Given the description of an element on the screen output the (x, y) to click on. 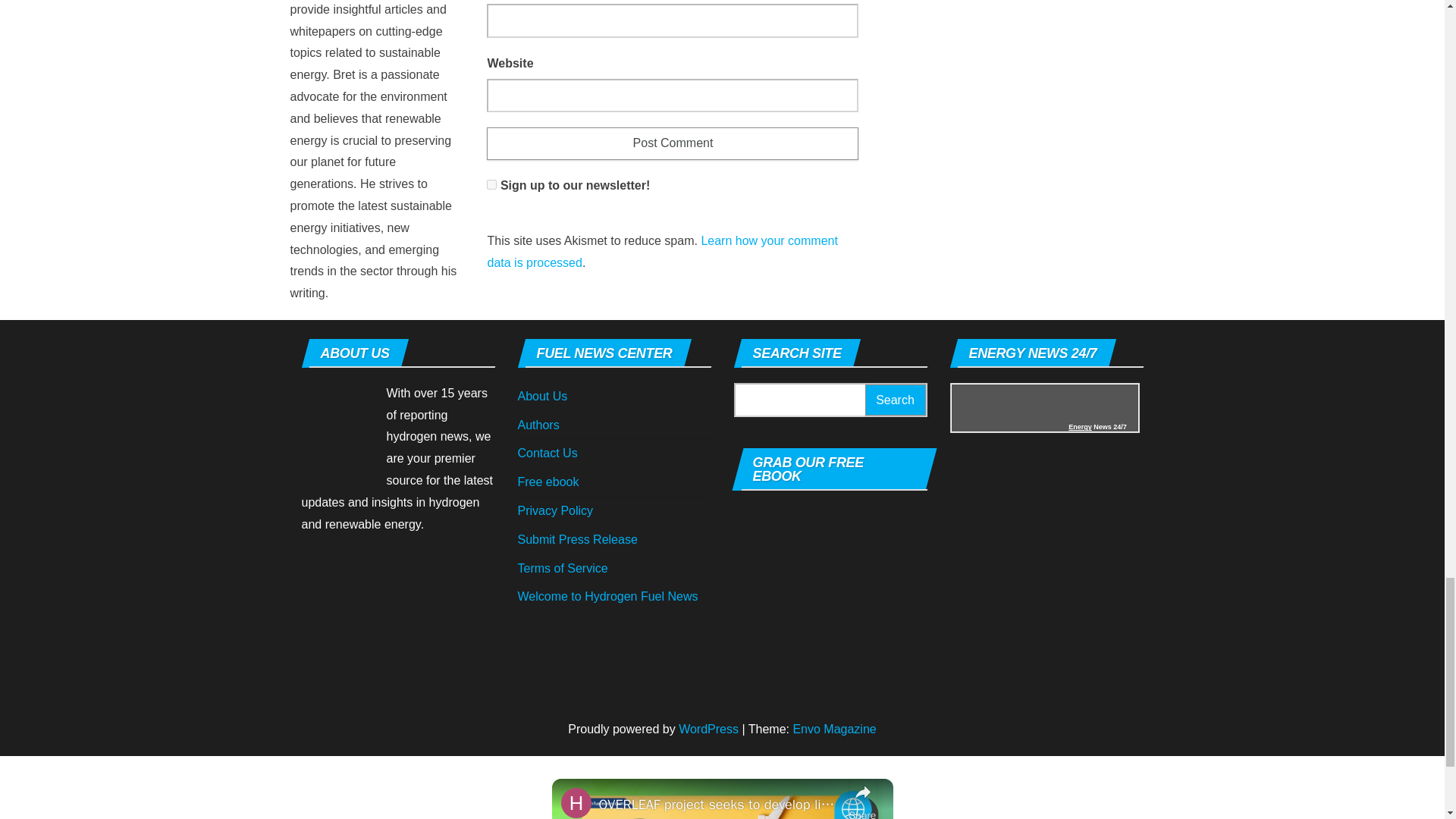
1 (491, 184)
Post Comment (672, 143)
Search (894, 399)
